Given the description of an element on the screen output the (x, y) to click on. 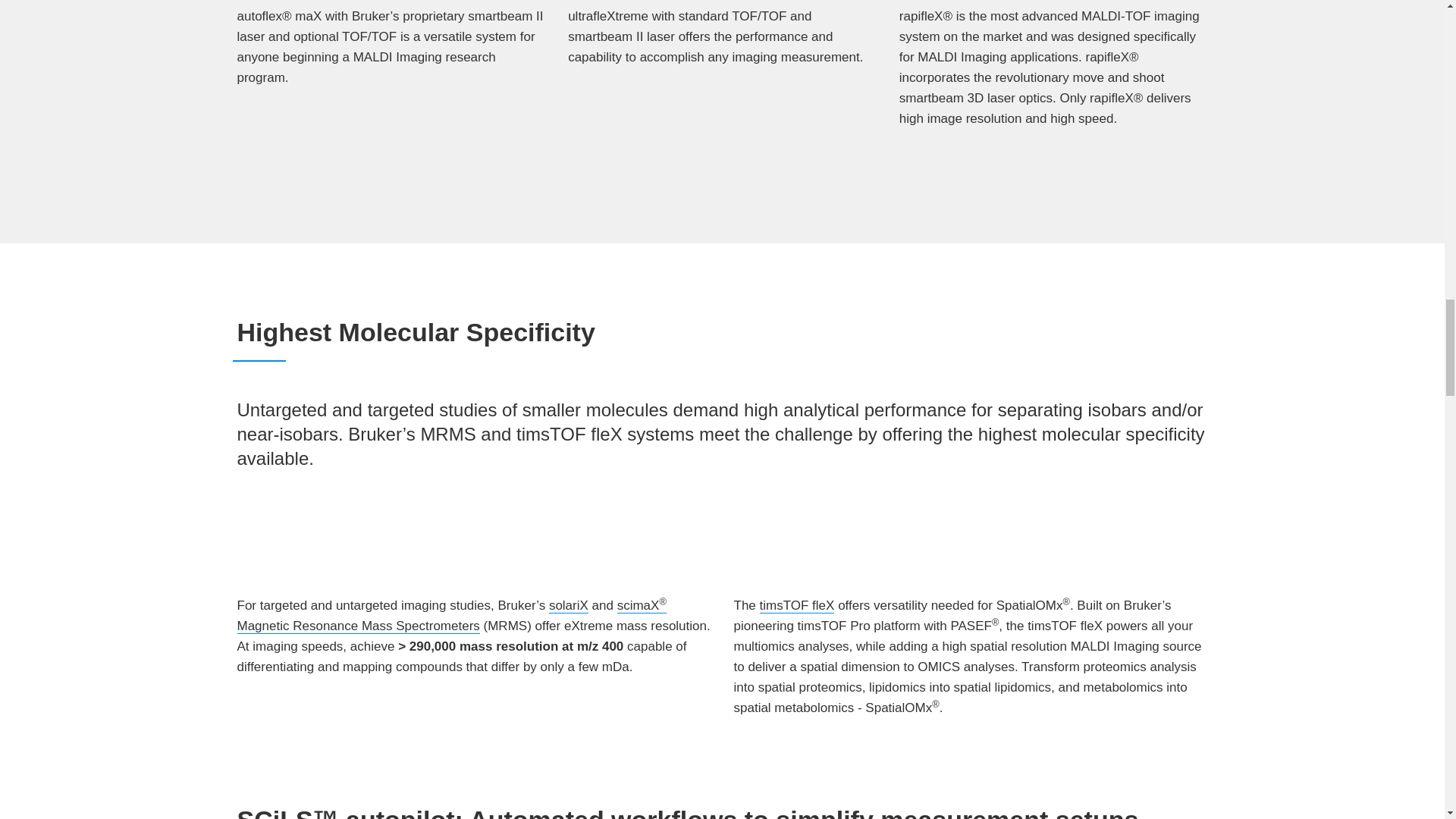
solariX (568, 605)
Magnetic Resonance Mass Spectrometers (357, 626)
timsTOF fleX (797, 605)
